Given the description of an element on the screen output the (x, y) to click on. 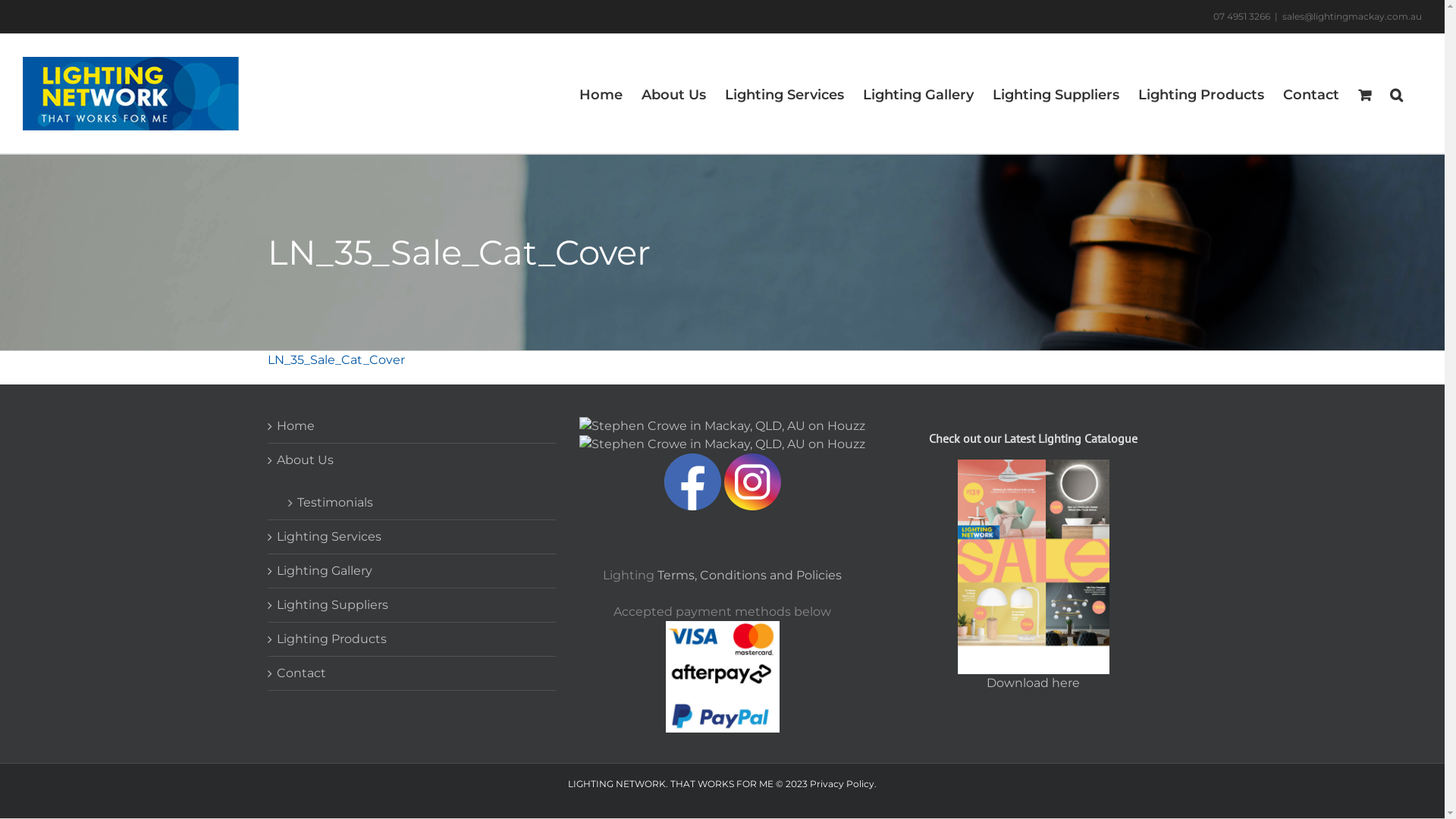
Lighting Products Element type: text (411, 639)
Lighting Gallery Element type: text (917, 93)
Lighting Services Element type: text (411, 536)
Contact Element type: text (411, 673)
About Us Element type: text (673, 93)
Home Element type: text (600, 93)
About Us Element type: text (411, 460)
Contact Element type: text (1311, 93)
Lighting Services Element type: text (784, 93)
Lighting Suppliers Element type: text (1055, 93)
Lighting Suppliers Element type: text (411, 605)
Terms, Conditions and Policies Element type: text (749, 574)
Download here Element type: text (1032, 682)
07 4951 3266 Element type: text (1241, 15)
Home Element type: text (411, 426)
Lighting Products Element type: text (1201, 93)
Privacy Policy. Element type: text (842, 783)
sales@lightingmackay.com.au Element type: text (1351, 15)
Search Element type: hover (1396, 93)
LN_35_Sale_Cat_Cover Element type: text (335, 359)
Lighting Gallery Element type: text (411, 570)
Testimonials Element type: text (418, 497)
